Given the description of an element on the screen output the (x, y) to click on. 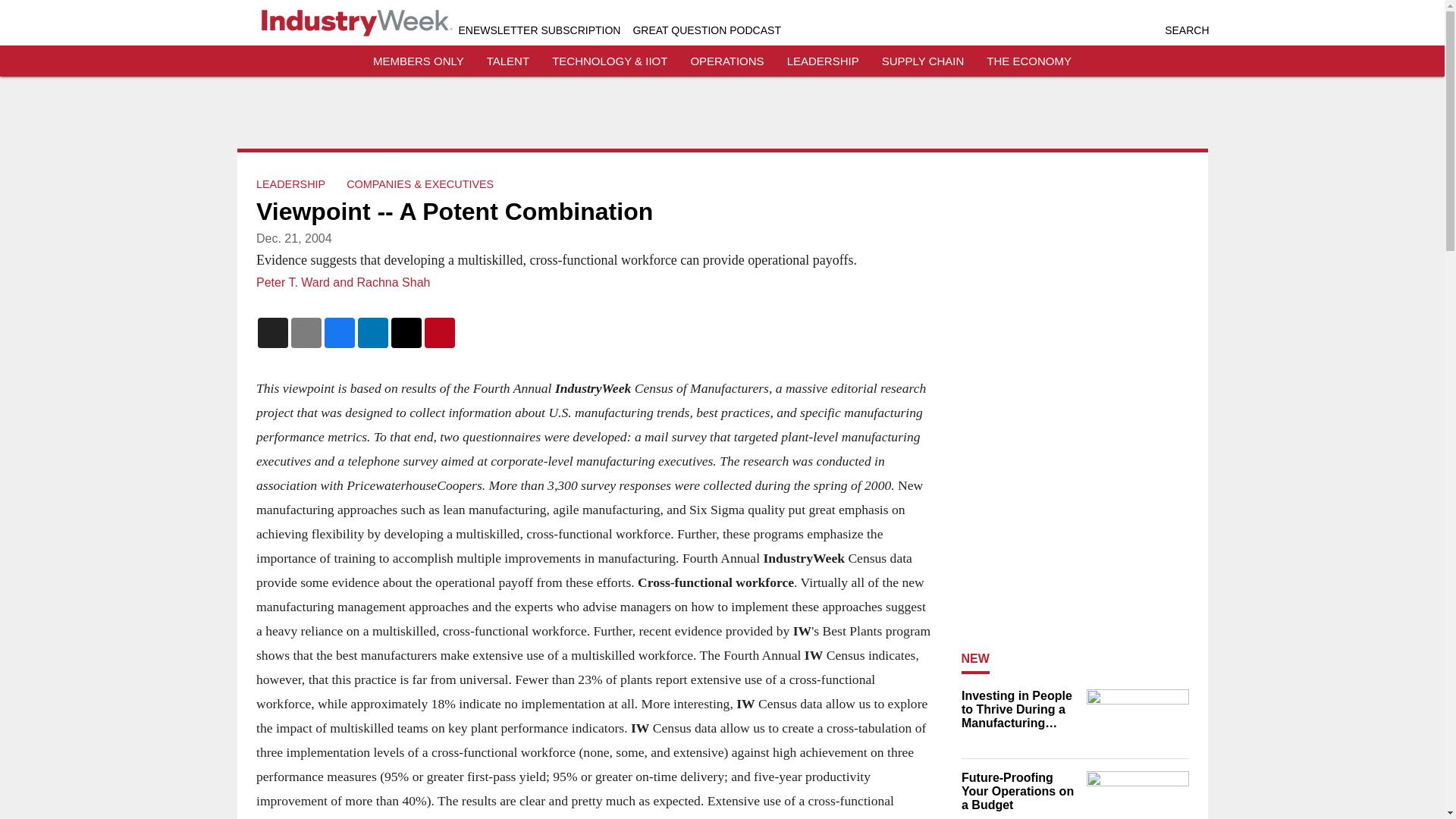
THE ECONOMY (1029, 60)
Future-Proofing Your Operations on a Budget (1019, 791)
GREAT QUESTION PODCAST (705, 30)
LEADERSHIP (290, 184)
LEADERSHIP (823, 60)
Peter T. Ward and Rachna Shah (342, 282)
MEMBERS ONLY (418, 60)
SUPPLY CHAIN (922, 60)
TALENT (507, 60)
OPERATIONS (726, 60)
ENEWSLETTER SUBSCRIPTION (539, 30)
SEARCH (1186, 30)
